Given the description of an element on the screen output the (x, y) to click on. 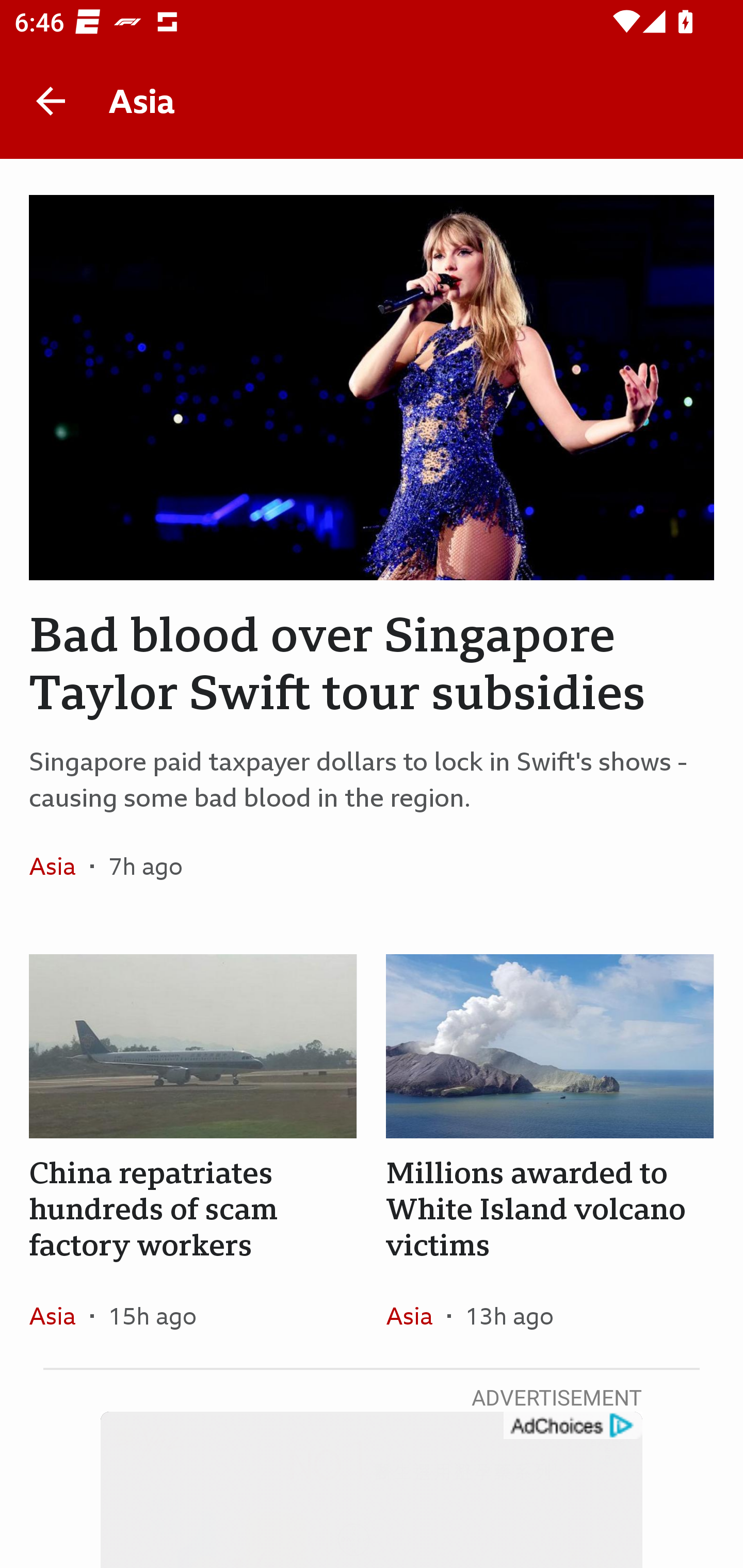
Back (50, 101)
Asia In the section Asia (59, 865)
Asia In the section Asia (59, 1315)
Asia In the section Asia (416, 1315)
Video Player get?name=admarker-full-tl   (371, 1489)
get?name=admarker-full-tl (571, 1425)
